Given the description of an element on the screen output the (x, y) to click on. 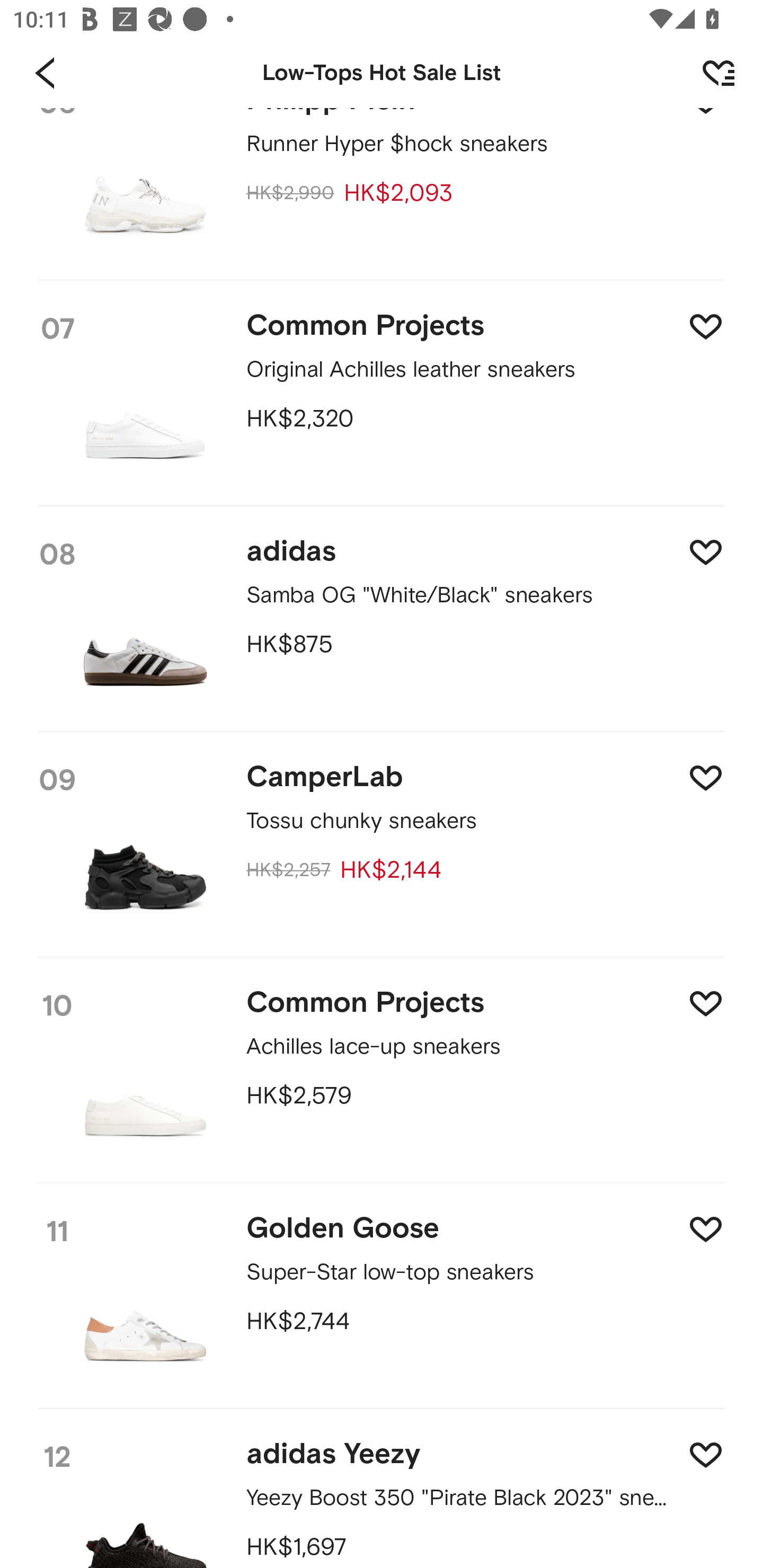
08 adidas Samba OG "White/Black" sneakers HK$875 (381, 620)
